Given the description of an element on the screen output the (x, y) to click on. 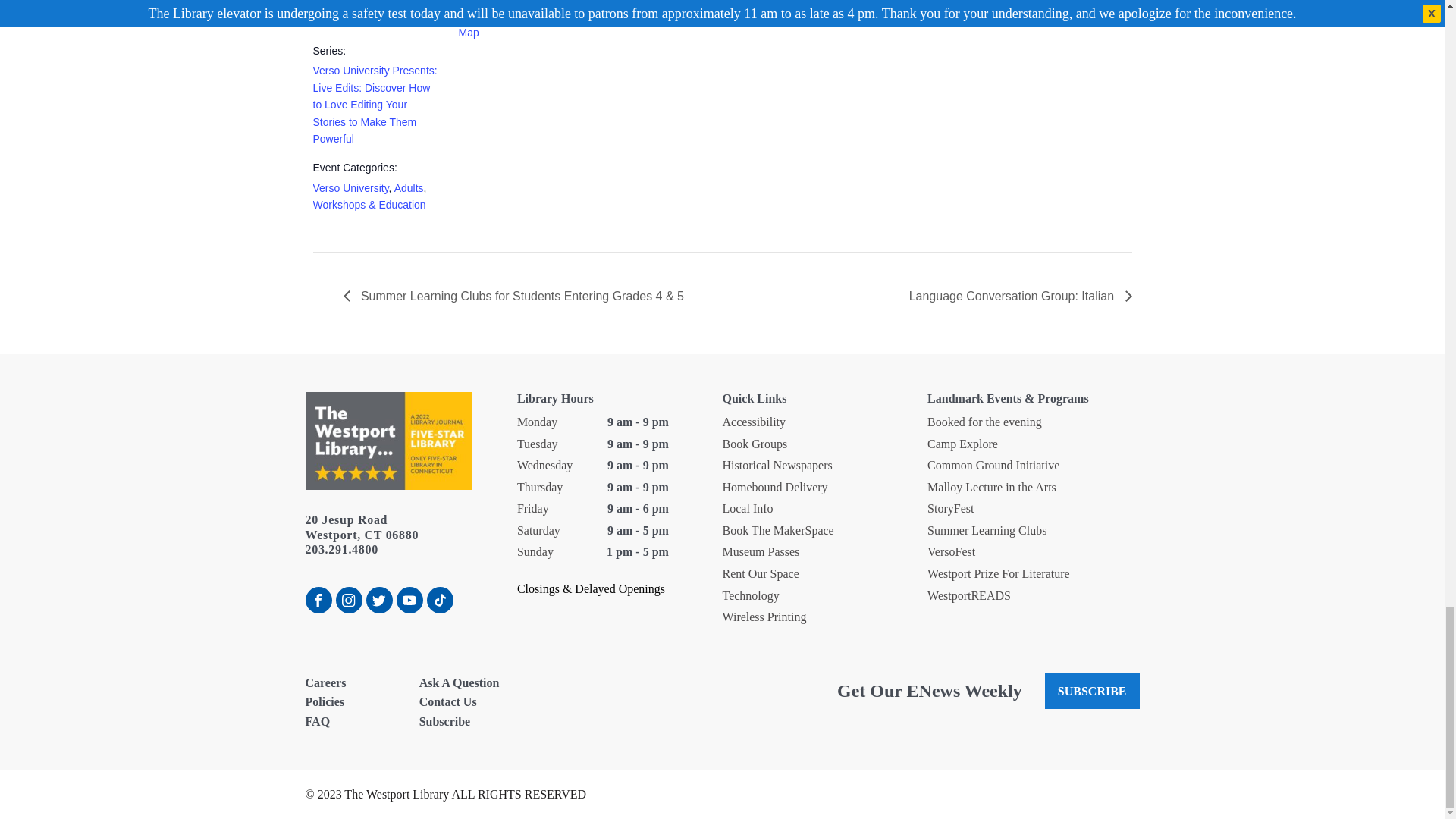
Click to view a Google Map (512, 22)
2023-08-02 (376, 15)
